Given the description of an element on the screen output the (x, y) to click on. 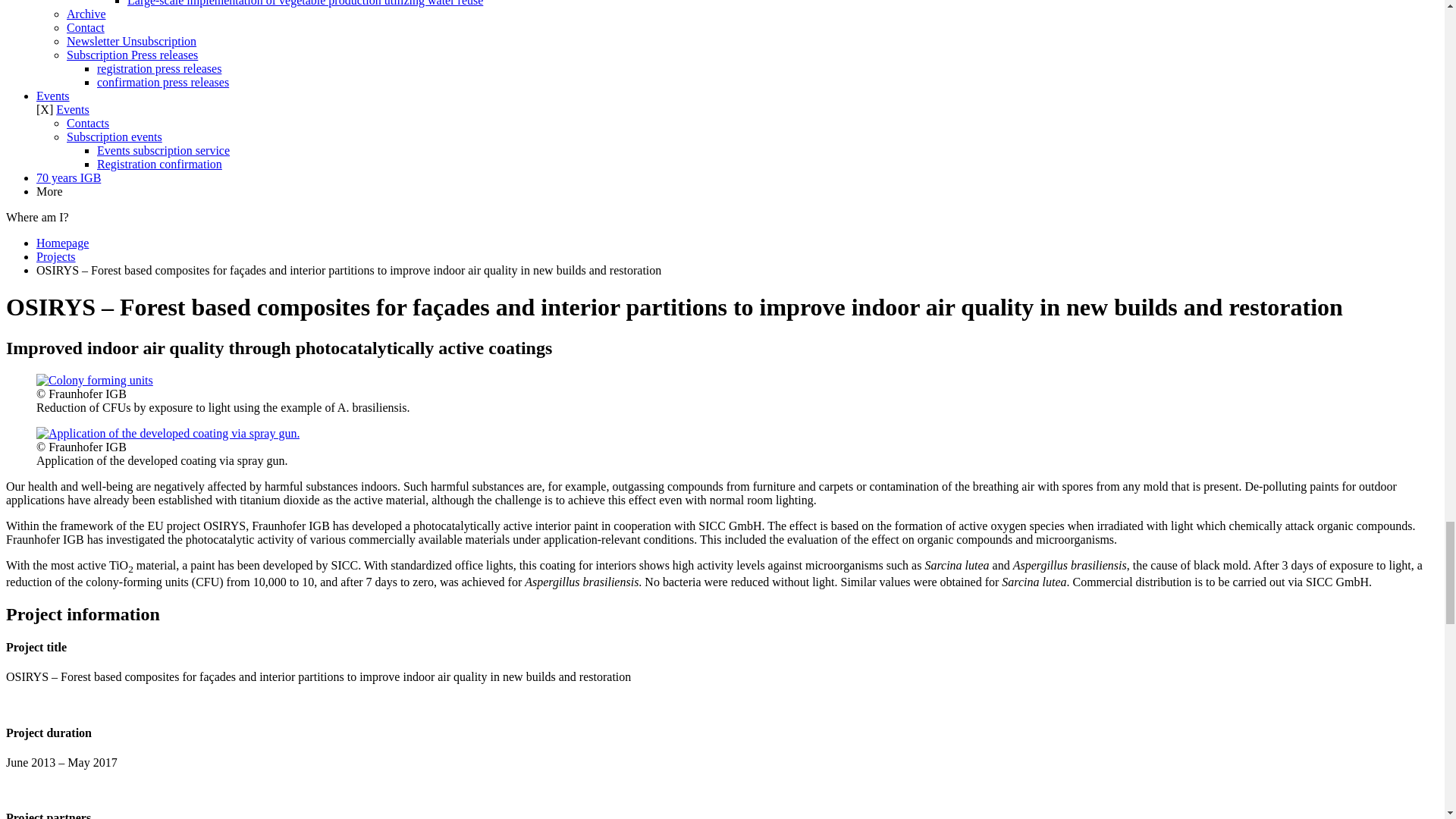
Colony forming units (94, 379)
Colony forming units (94, 380)
Application of the developed coating via spray gun. (167, 433)
Application of the developed coating via spray gun. (167, 432)
